Given the description of an element on the screen output the (x, y) to click on. 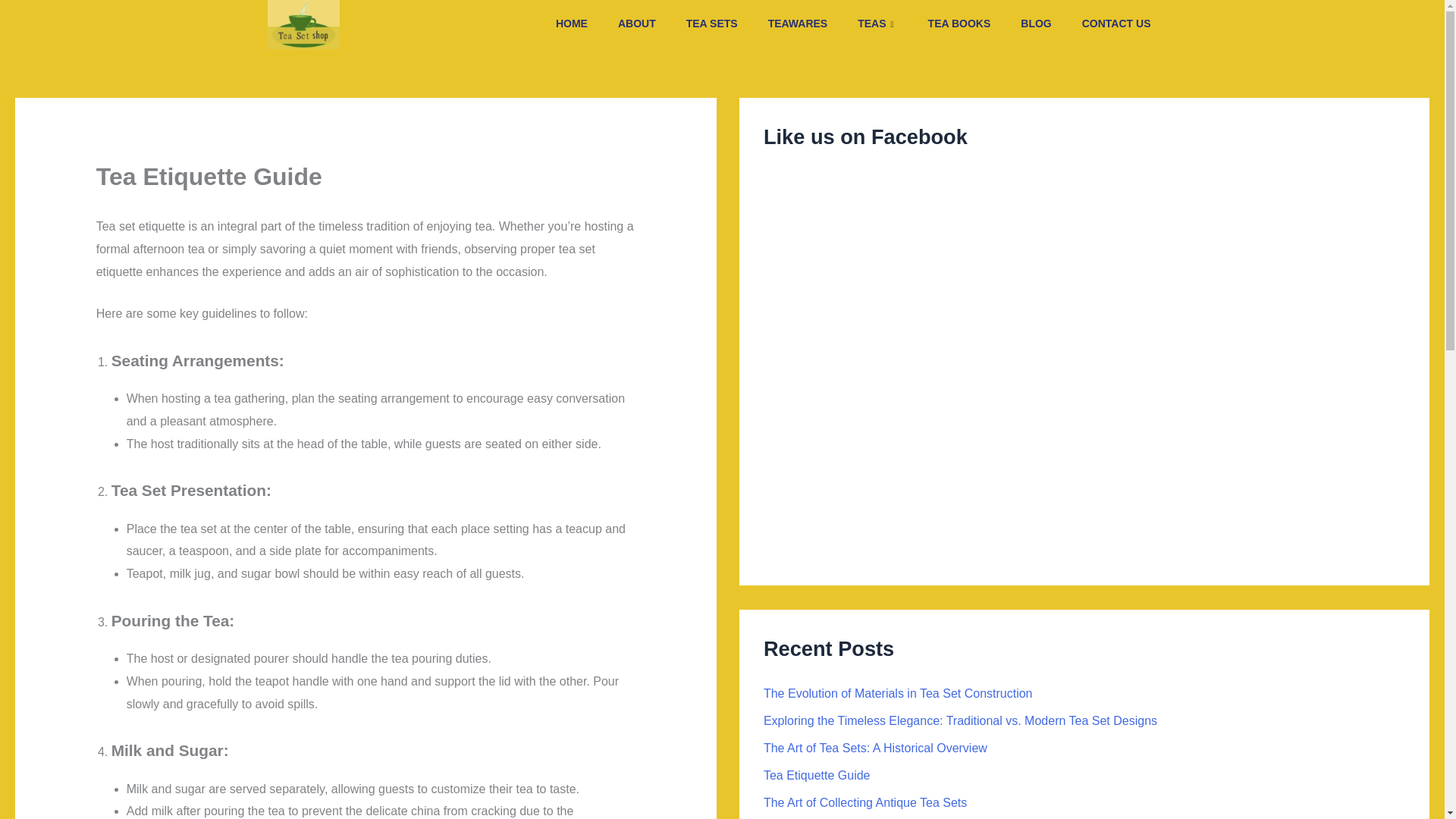
BLOG (1035, 24)
ABOUT (636, 24)
CONTACT US (1116, 24)
The Art of Tea Sets: A Historical Overview (874, 748)
TEA SETS (711, 24)
TEAWARES (797, 24)
TEAS (877, 24)
HOME (571, 24)
The Art of Collecting Antique Tea Sets (864, 802)
